Given the description of an element on the screen output the (x, y) to click on. 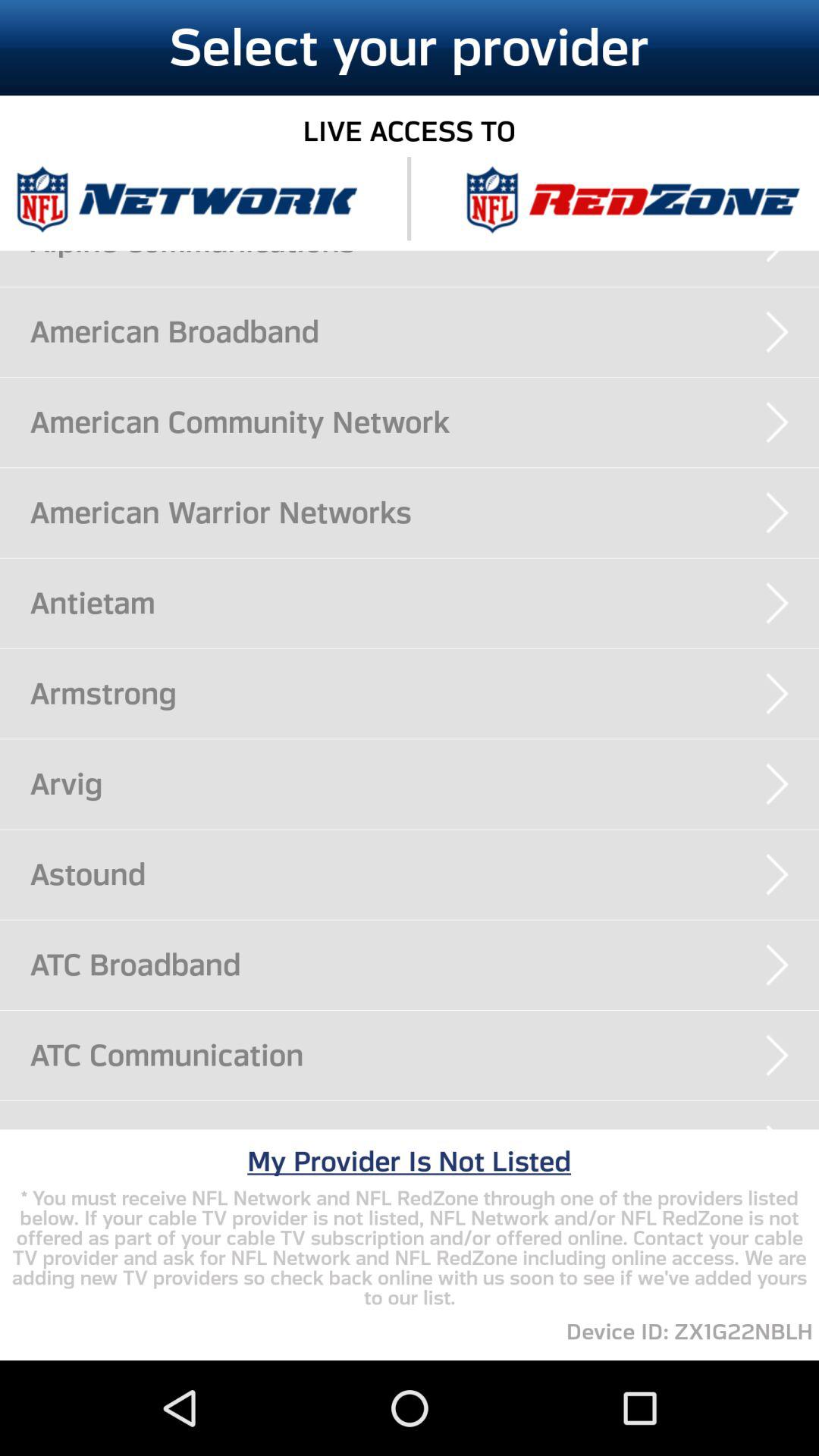
press icon above my provider is app (424, 1128)
